Given the description of an element on the screen output the (x, y) to click on. 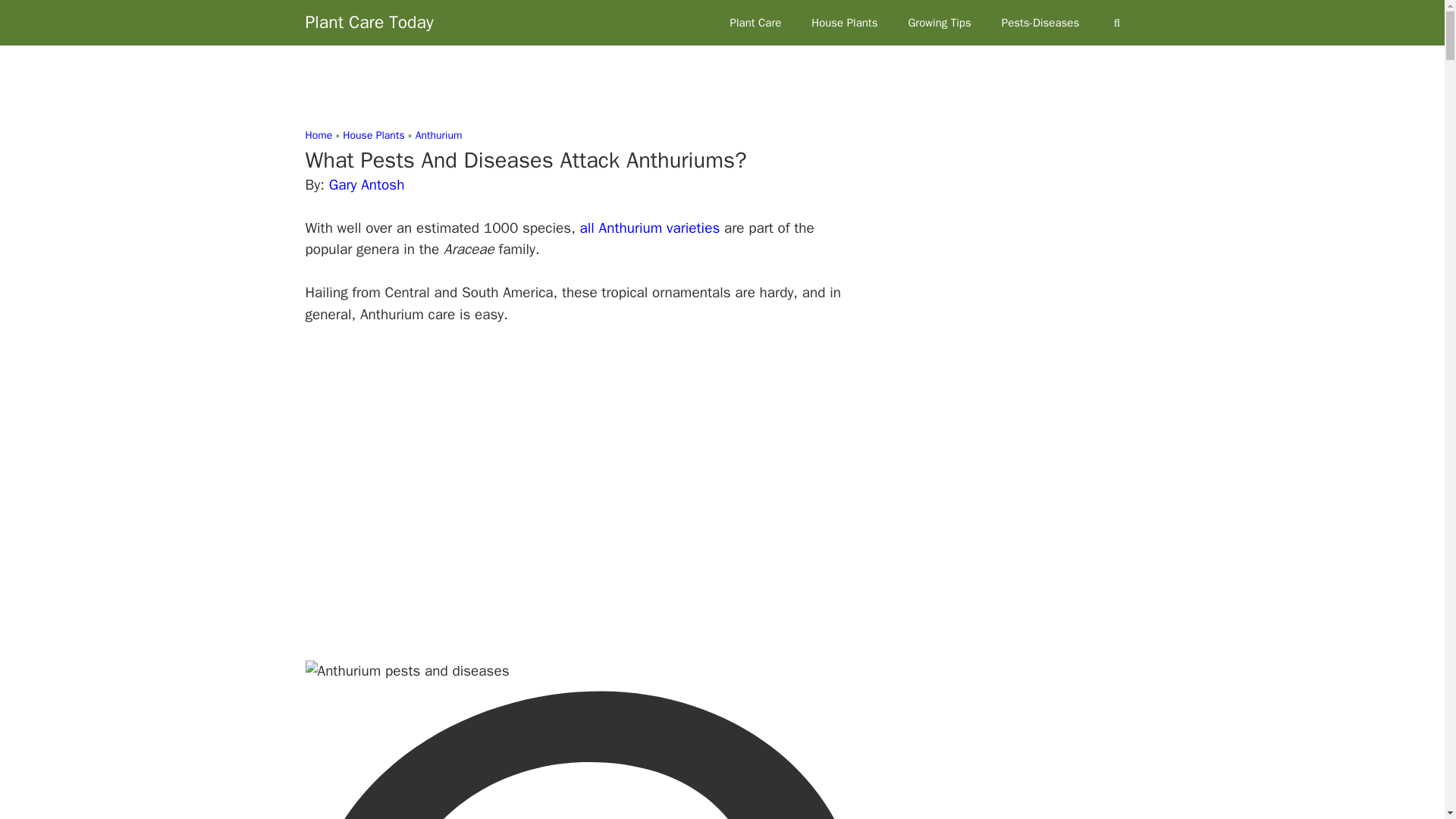
Plant Care Today (368, 22)
House Plants (844, 22)
Anthurium (438, 134)
Plant Care (755, 22)
Pests-Diseases (1040, 22)
Growing Tips (938, 22)
House Plants (373, 134)
Gary Antosh (366, 185)
Home (317, 134)
all Anthurium varieties (649, 228)
